Given the description of an element on the screen output the (x, y) to click on. 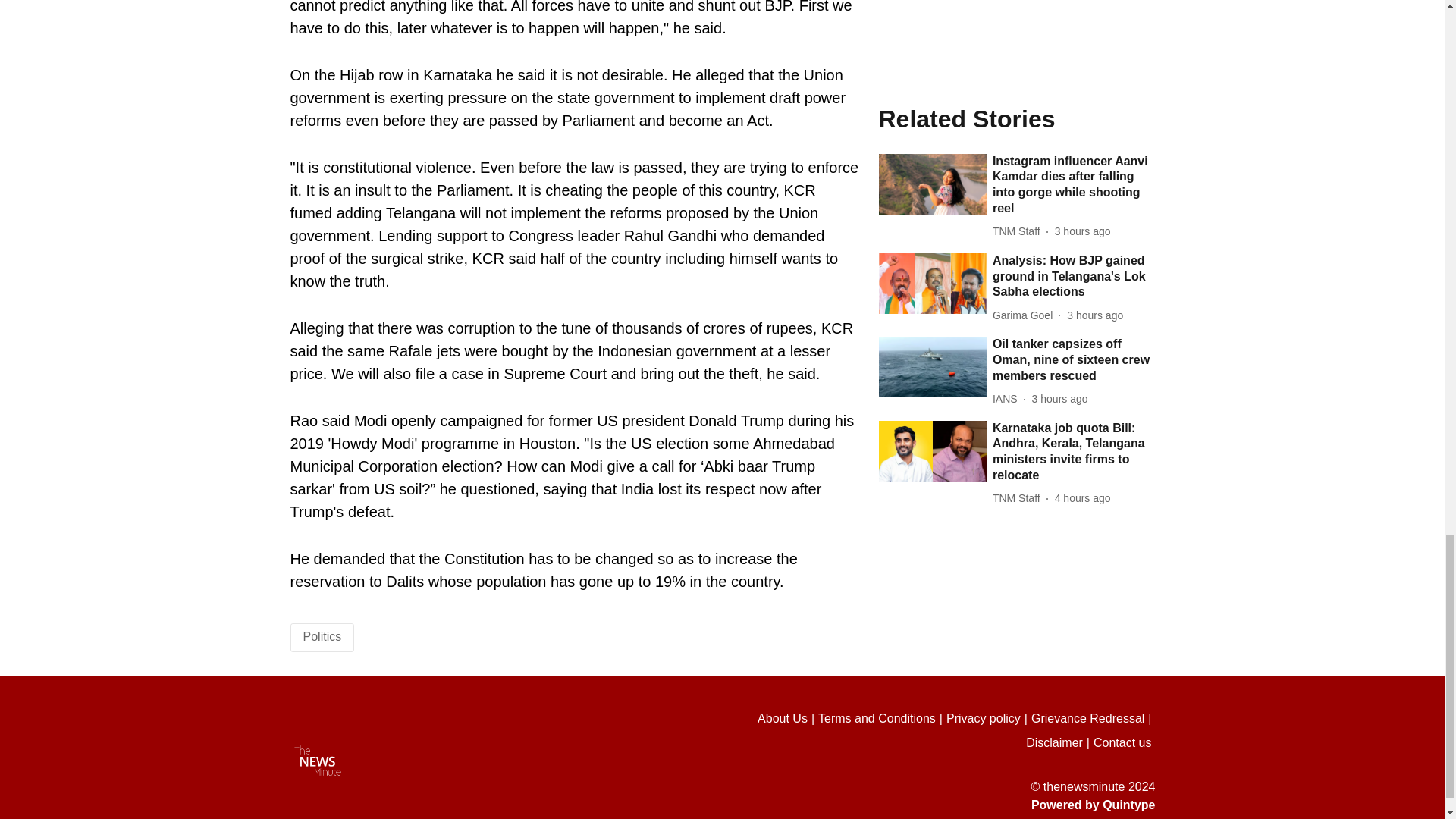
Terms and Conditions (882, 718)
Politics (322, 635)
Privacy policy (988, 718)
About Us (787, 718)
